Given the description of an element on the screen output the (x, y) to click on. 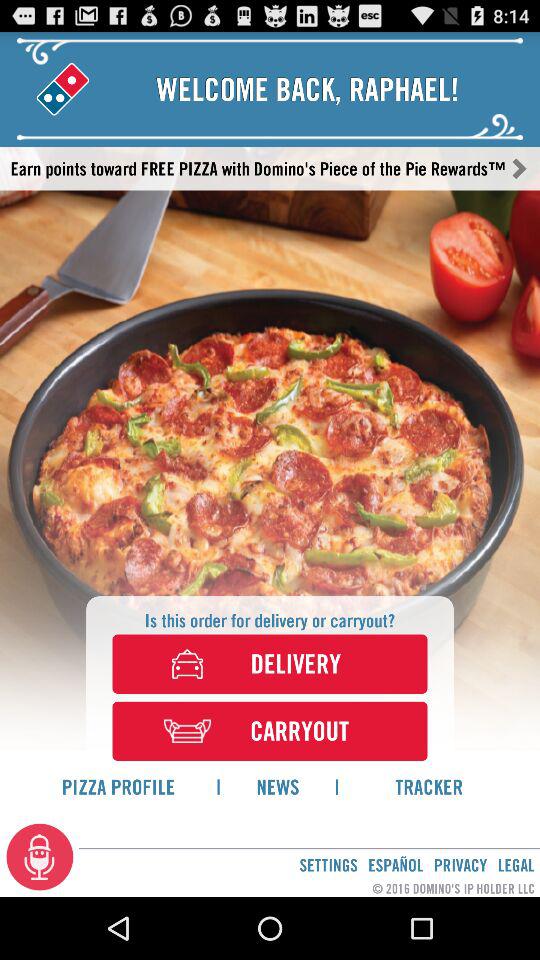
turn off the app above 2016 domino s (395, 864)
